Given the description of an element on the screen output the (x, y) to click on. 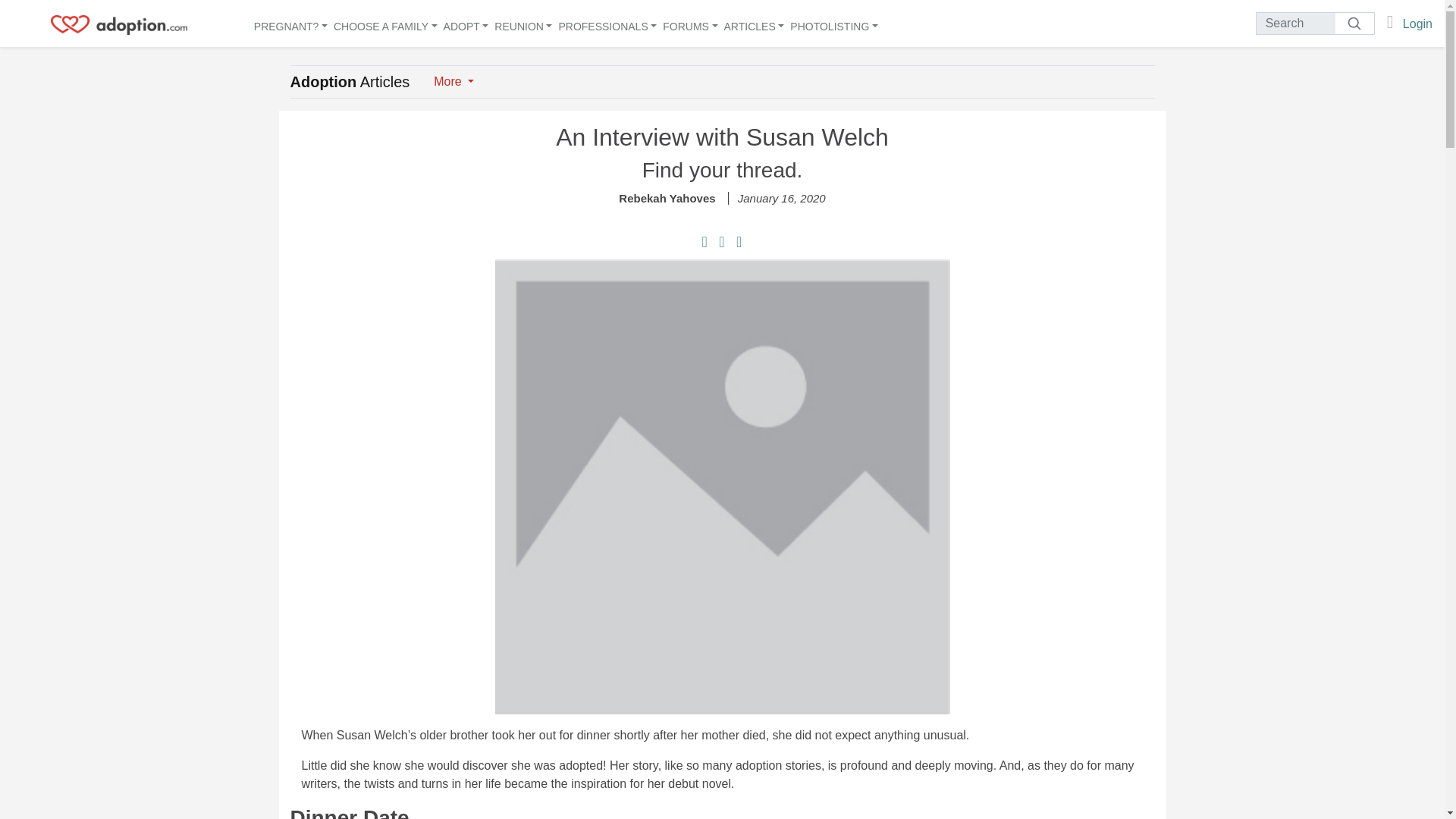
Pinterest (723, 242)
Facebook (707, 242)
Twitter (738, 242)
REUNION (523, 23)
PREGNANT? (290, 23)
ADOPT (466, 23)
CHOOSE A FAMILY (385, 23)
